Given the description of an element on the screen output the (x, y) to click on. 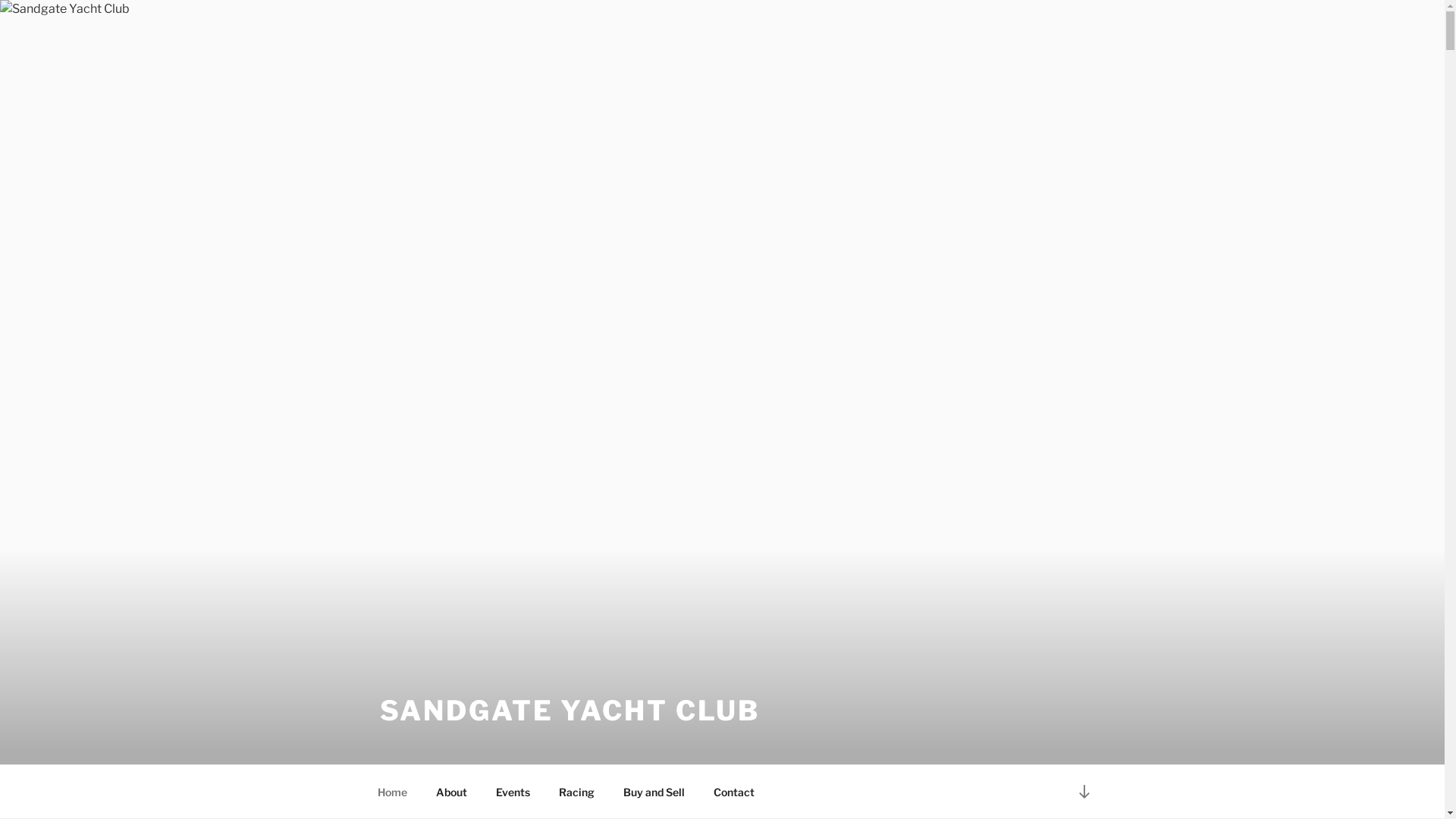
Skip to content Element type: text (0, 0)
Racing Element type: text (577, 791)
SANDGATE YACHT CLUB Element type: text (569, 710)
Events Element type: text (512, 791)
Buy and Sell Element type: text (653, 791)
Home Element type: text (392, 791)
Scroll down to content Element type: text (1083, 790)
About Element type: text (451, 791)
Contact Element type: text (734, 791)
